Given the description of an element on the screen output the (x, y) to click on. 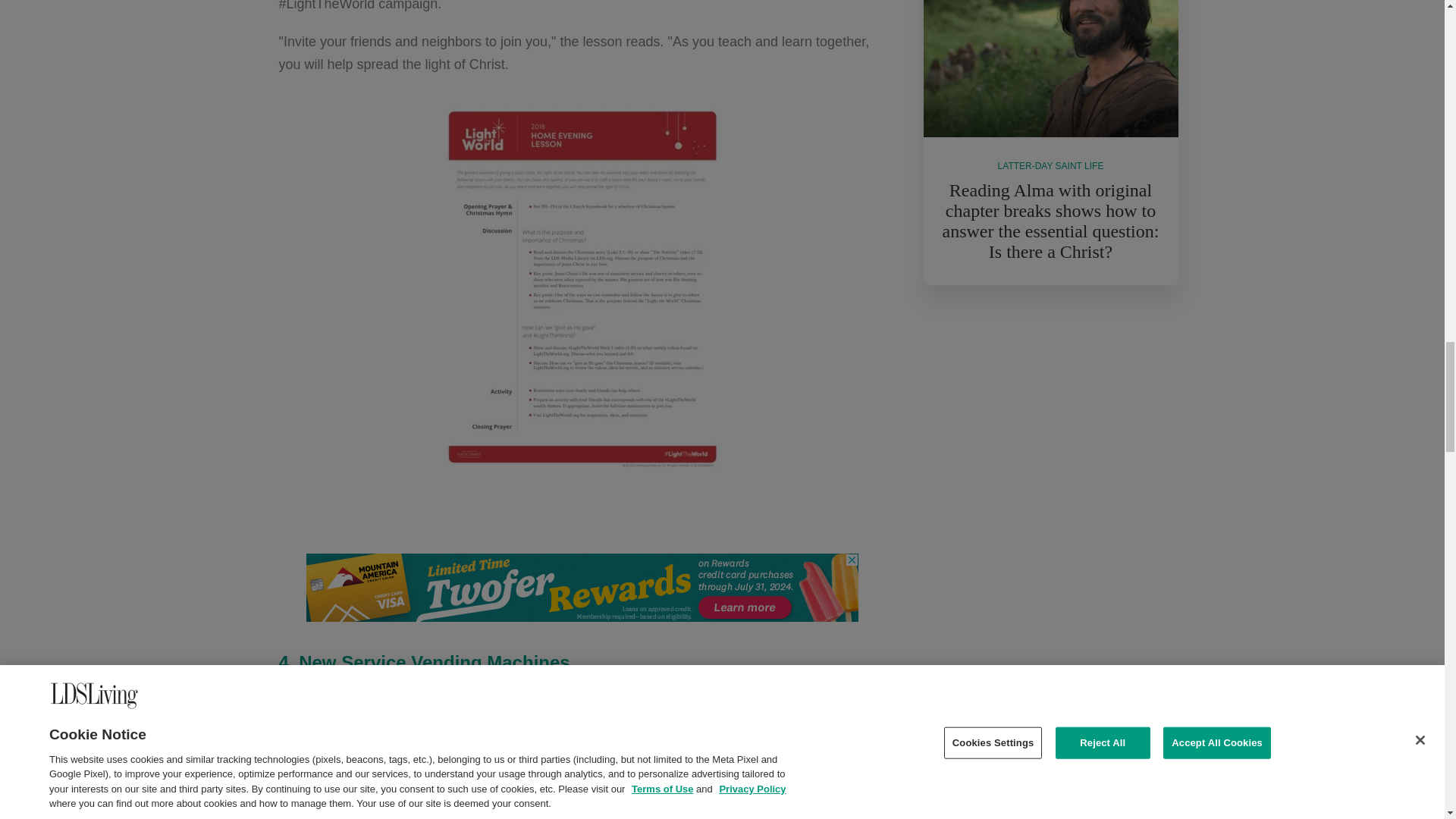
3rd party ad content (582, 587)
3rd party ad content (1050, 421)
